Given the description of an element on the screen output the (x, y) to click on. 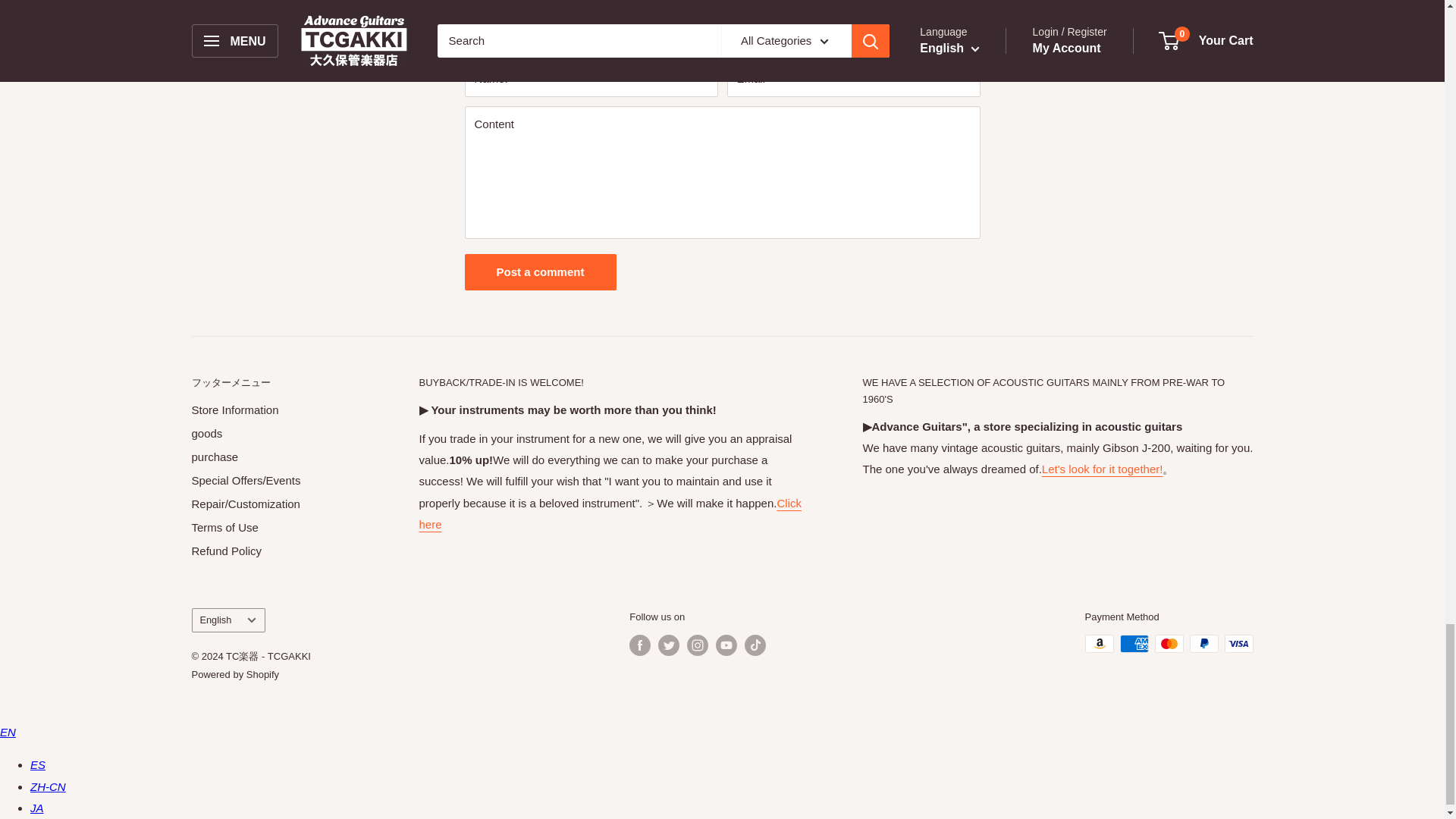
advanceguitars (1102, 468)
About Purchase (609, 513)
